Given the description of an element on the screen output the (x, y) to click on. 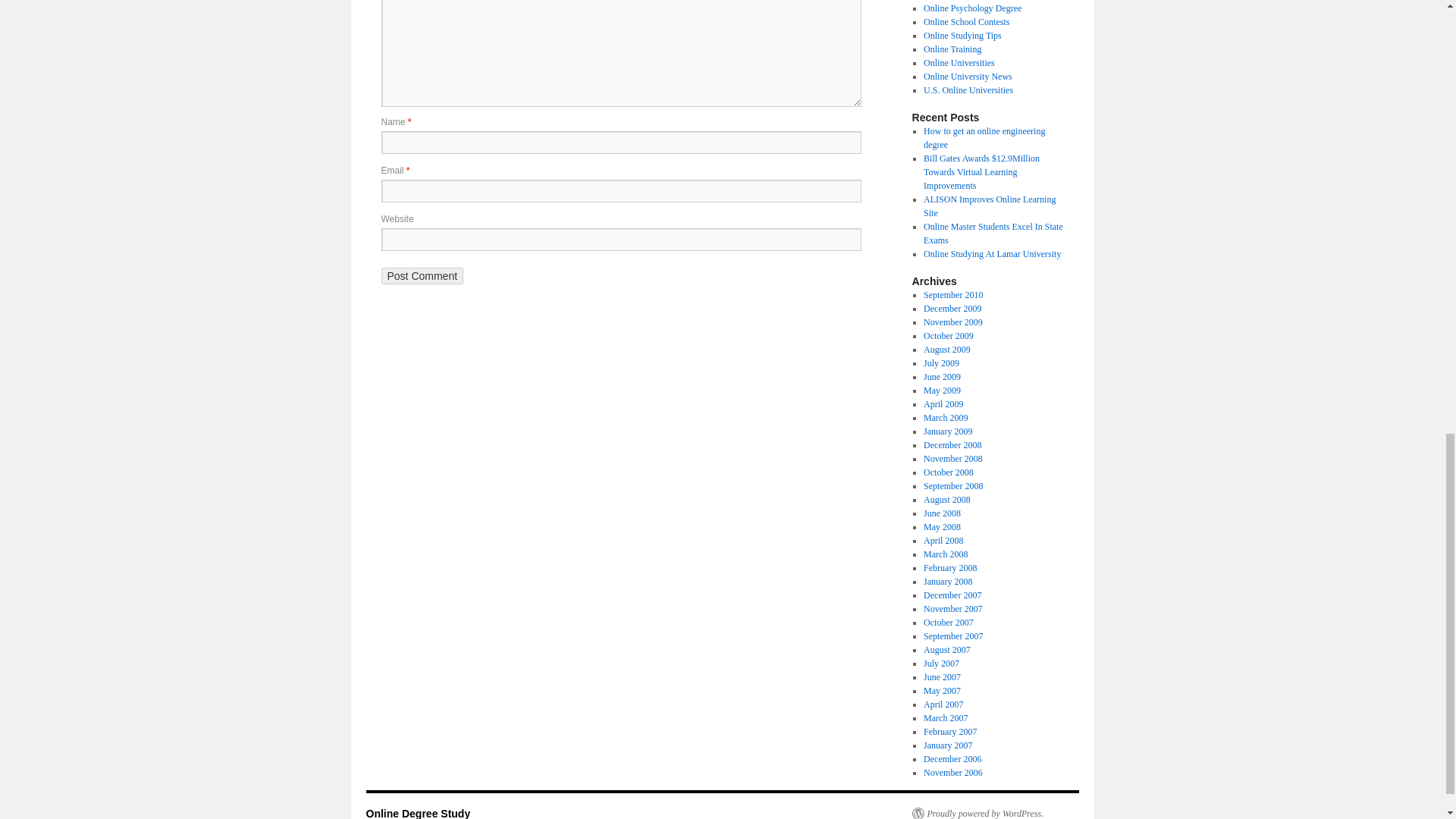
Post Comment (421, 275)
Post Comment (421, 275)
